Given the description of an element on the screen output the (x, y) to click on. 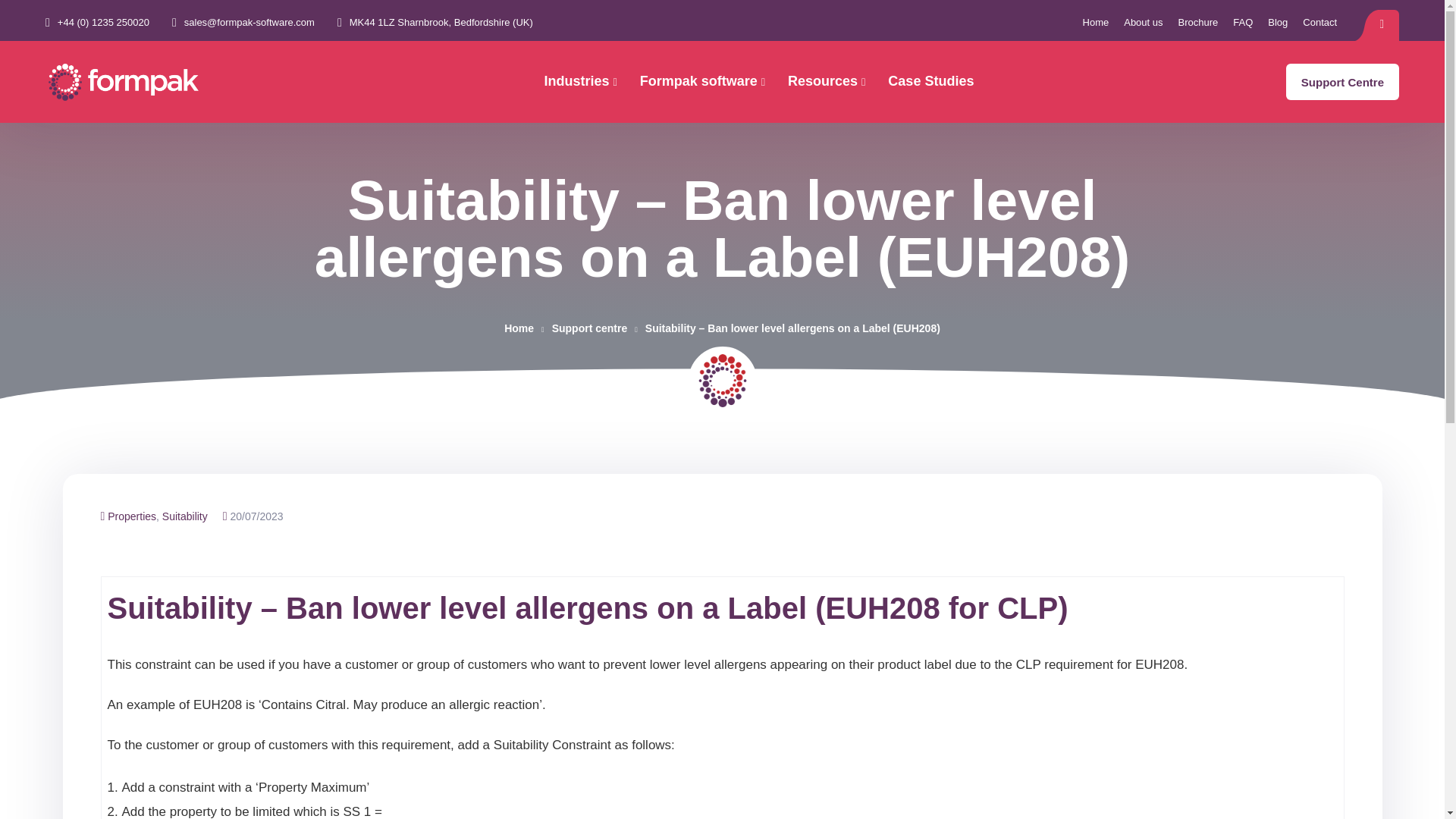
Case Studies (931, 81)
Formpak software (702, 81)
About us (1142, 22)
FAQ (1242, 22)
Resources (825, 81)
Brochure (1197, 22)
Home (1096, 22)
Contact (1319, 22)
Blog (1277, 22)
